Given the description of an element on the screen output the (x, y) to click on. 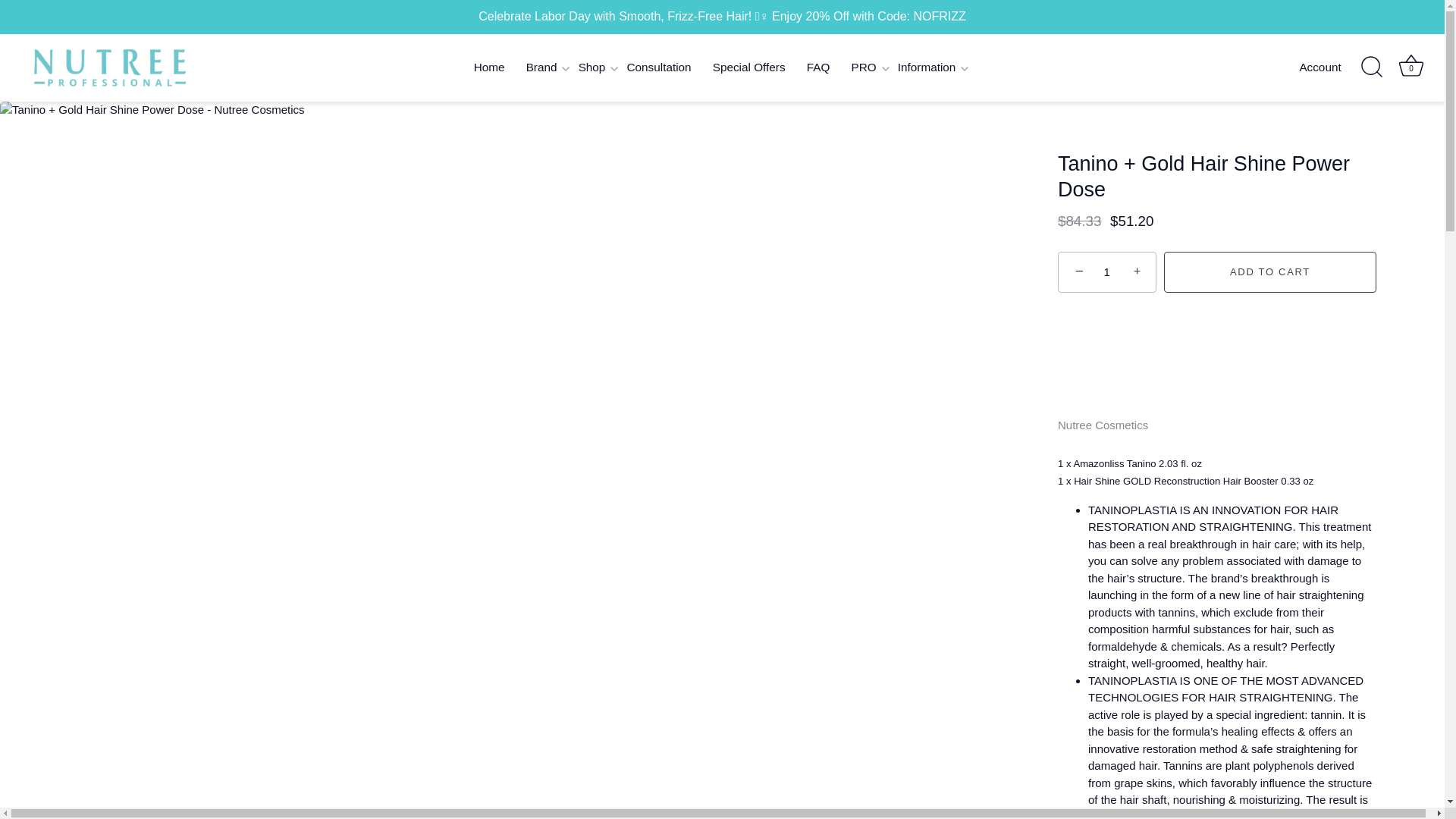
Special Offers (748, 68)
Information (926, 68)
Home (488, 68)
Basket (1410, 65)
PRO (863, 68)
Brand (541, 68)
Consultation (658, 68)
Shop (591, 68)
FAQ (818, 68)
